Given the description of an element on the screen output the (x, y) to click on. 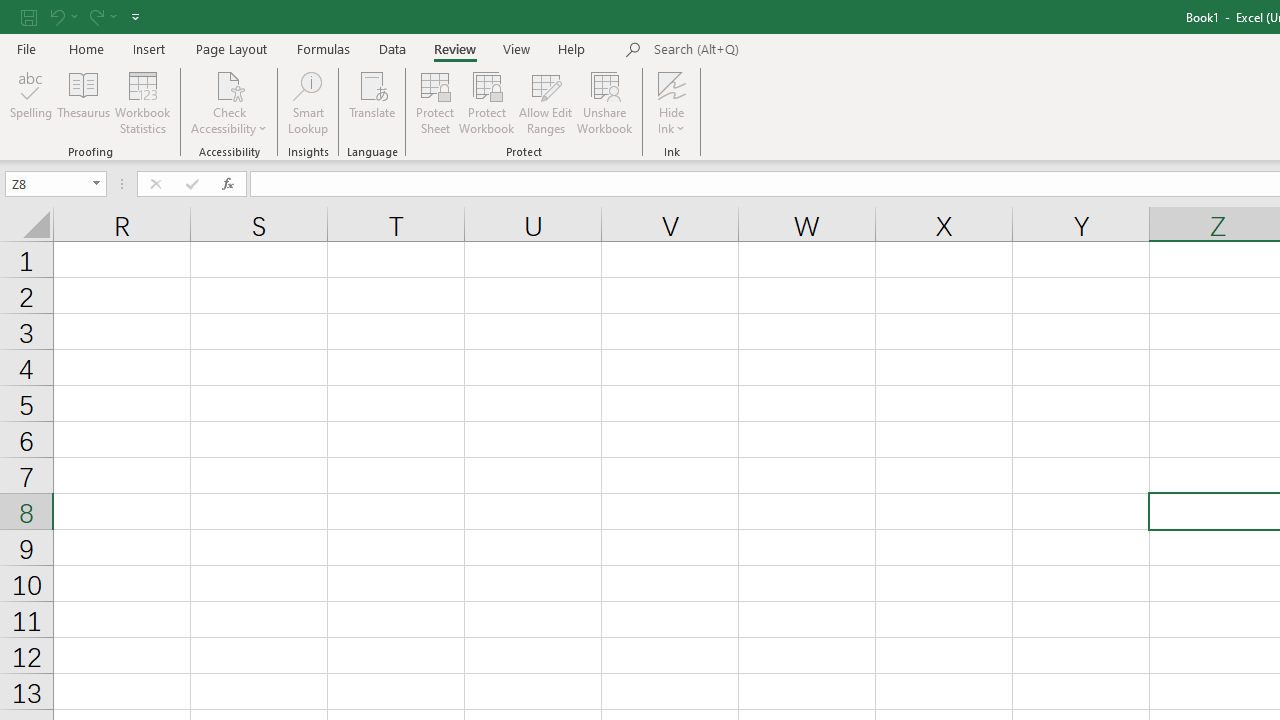
Spelling... (31, 102)
Protect Workbook... (486, 102)
Translate (372, 102)
Help (572, 48)
Open (96, 183)
File Tab (26, 48)
Microsoft search (792, 49)
Hide Ink (671, 102)
Protect Sheet... (434, 102)
Check Accessibility (229, 102)
